Given the description of an element on the screen output the (x, y) to click on. 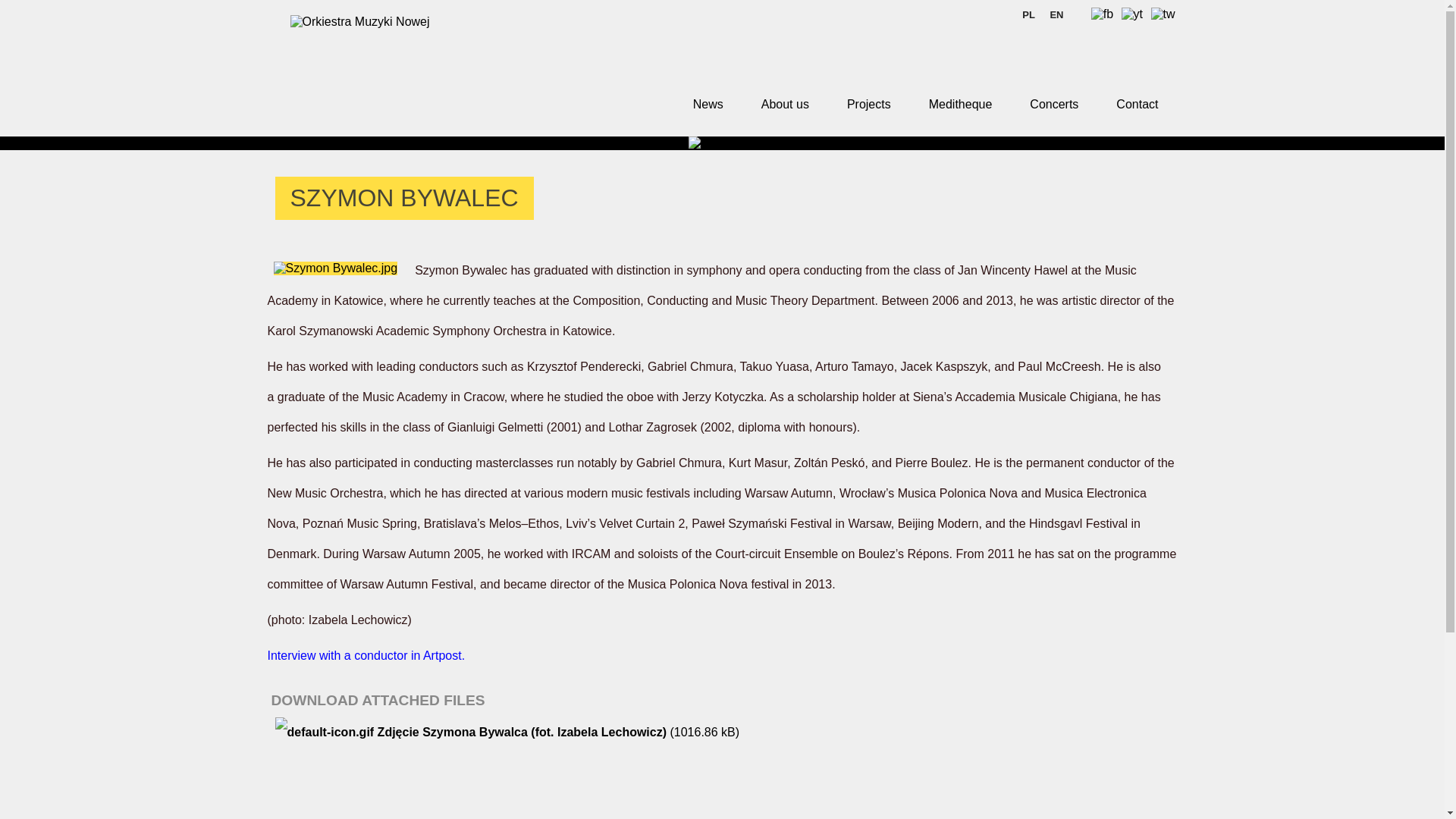
Contact (1136, 104)
EN (1056, 14)
News (708, 104)
default-icon.gif (324, 732)
About us (785, 104)
PL (1028, 14)
Projects (869, 104)
Szymon Bywalec.jpg (335, 268)
Meditheque (960, 104)
Interview with a conductor in Artpost. (365, 655)
